Given the description of an element on the screen output the (x, y) to click on. 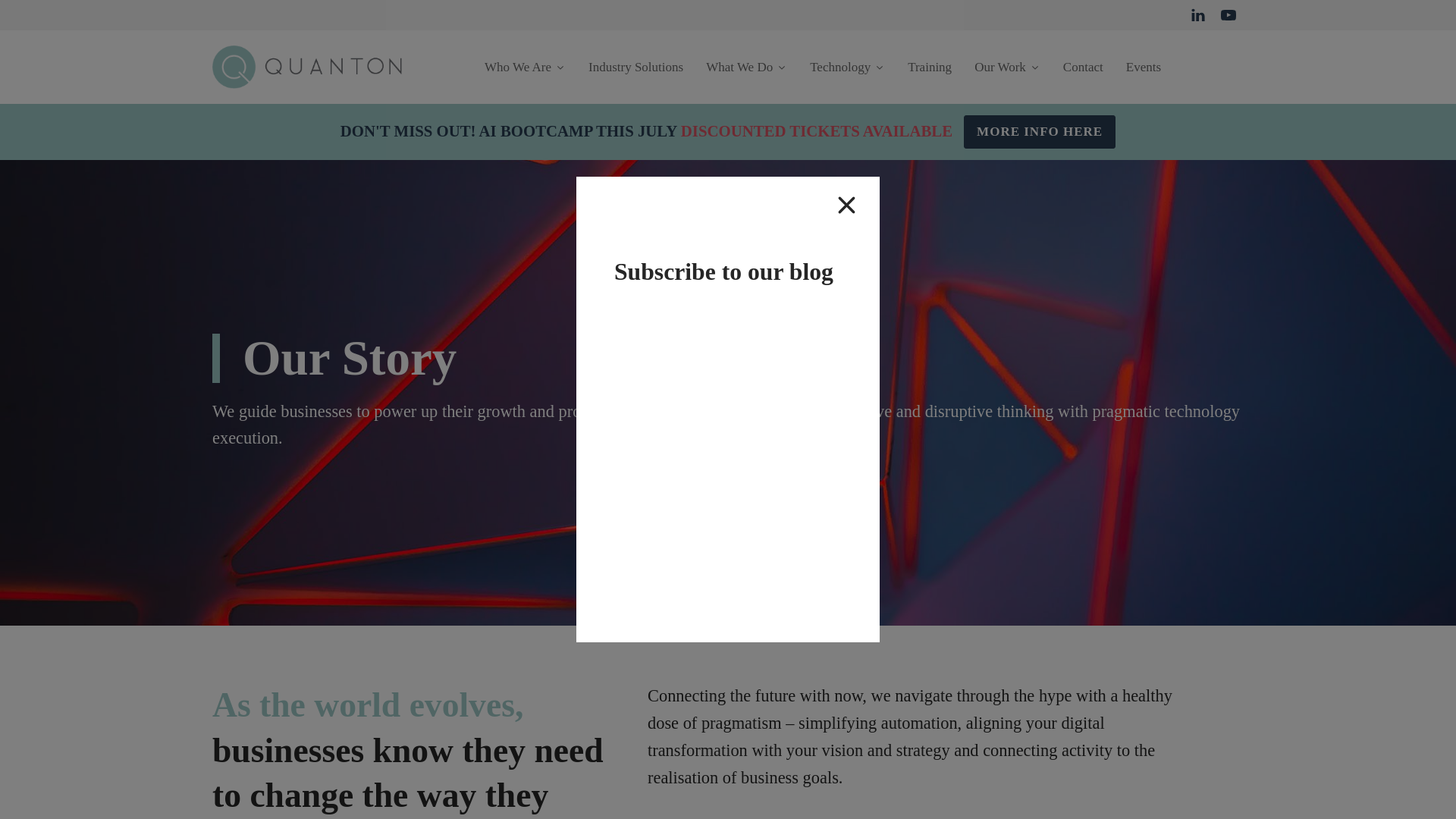
What We Do (745, 66)
Industry Solutions (635, 66)
Training (929, 66)
Contact (1083, 66)
Technology (846, 66)
Our Work (1006, 66)
Events (1143, 66)
Who We Are (524, 66)
